Given the description of an element on the screen output the (x, y) to click on. 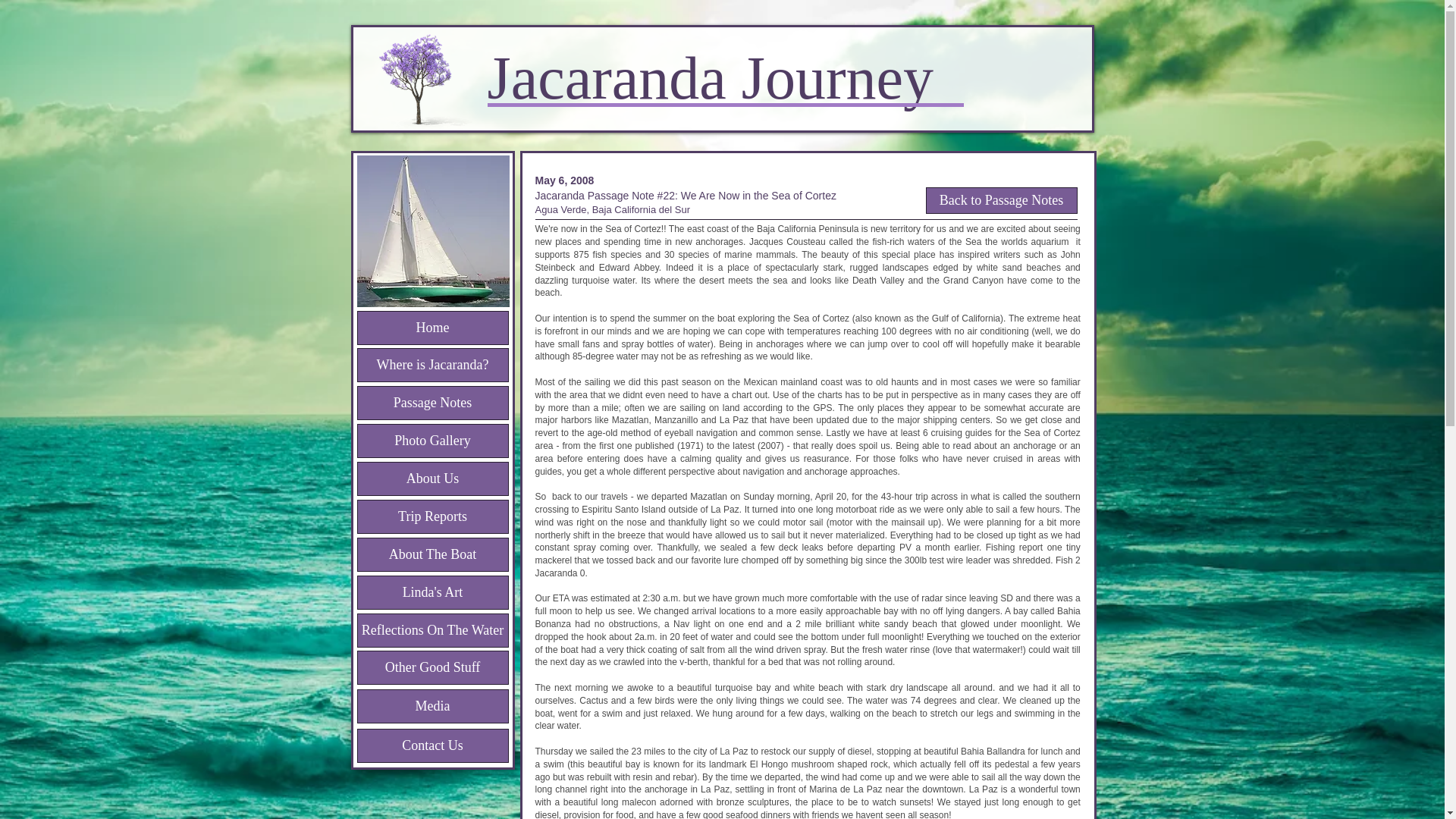
Where is Jacaranda? (432, 365)
About The Boat (432, 554)
Contact Us (432, 745)
Media (432, 706)
Reflections On The Water (432, 630)
Back to Passage Notes (1000, 200)
Linda's Art (432, 592)
Home (432, 327)
About Us (432, 478)
Other Good Stuff (432, 667)
Trip Reports (432, 516)
Photo Gallery (432, 440)
Passage Notes (432, 402)
